Given the description of an element on the screen output the (x, y) to click on. 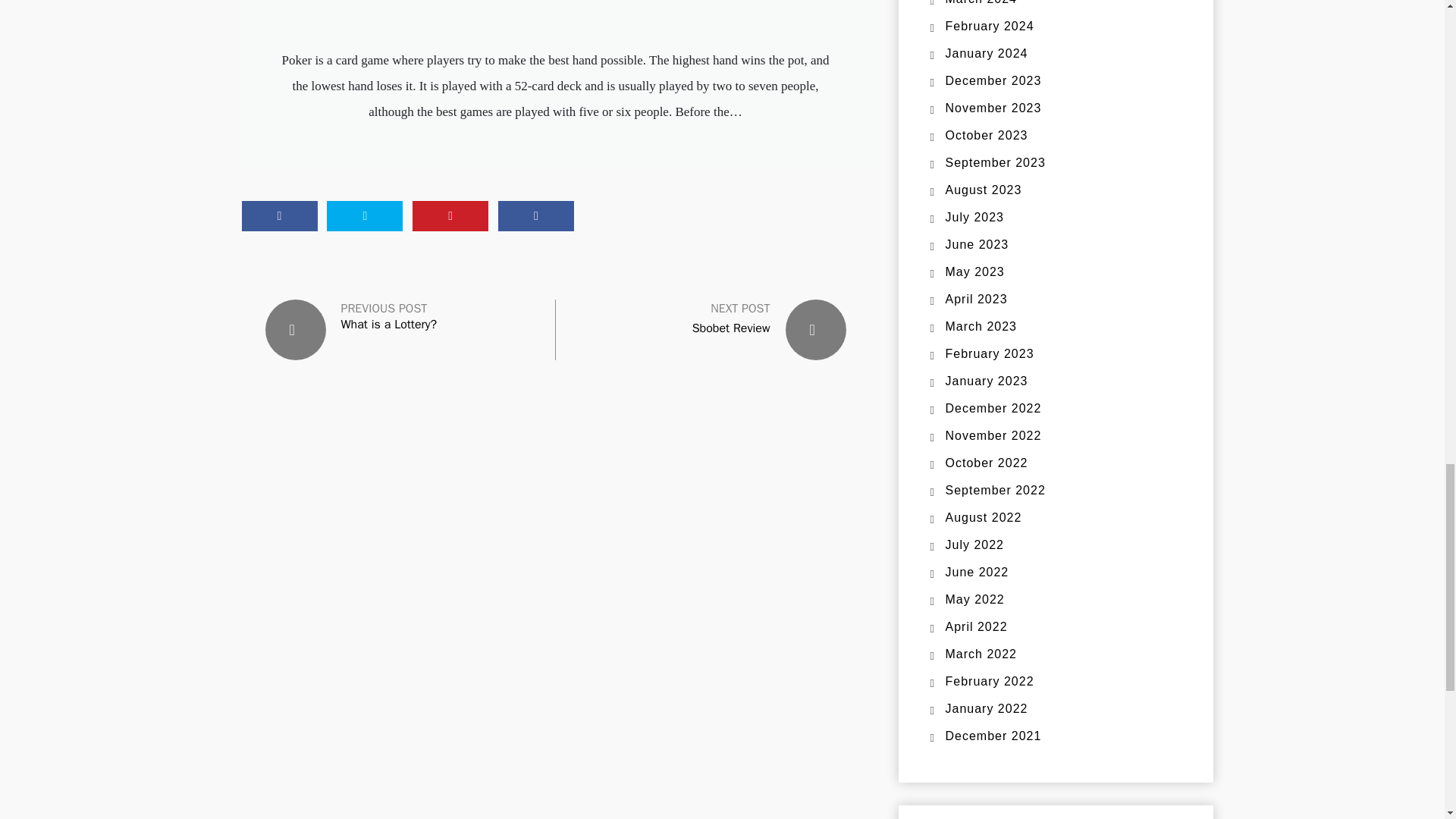
What is a Lottery? (389, 324)
Sbobet Review (731, 328)
January 2024 (985, 52)
March 2024 (980, 2)
NEXT POST (740, 308)
PREVIOUS POST (384, 308)
February 2024 (988, 25)
